Given the description of an element on the screen output the (x, y) to click on. 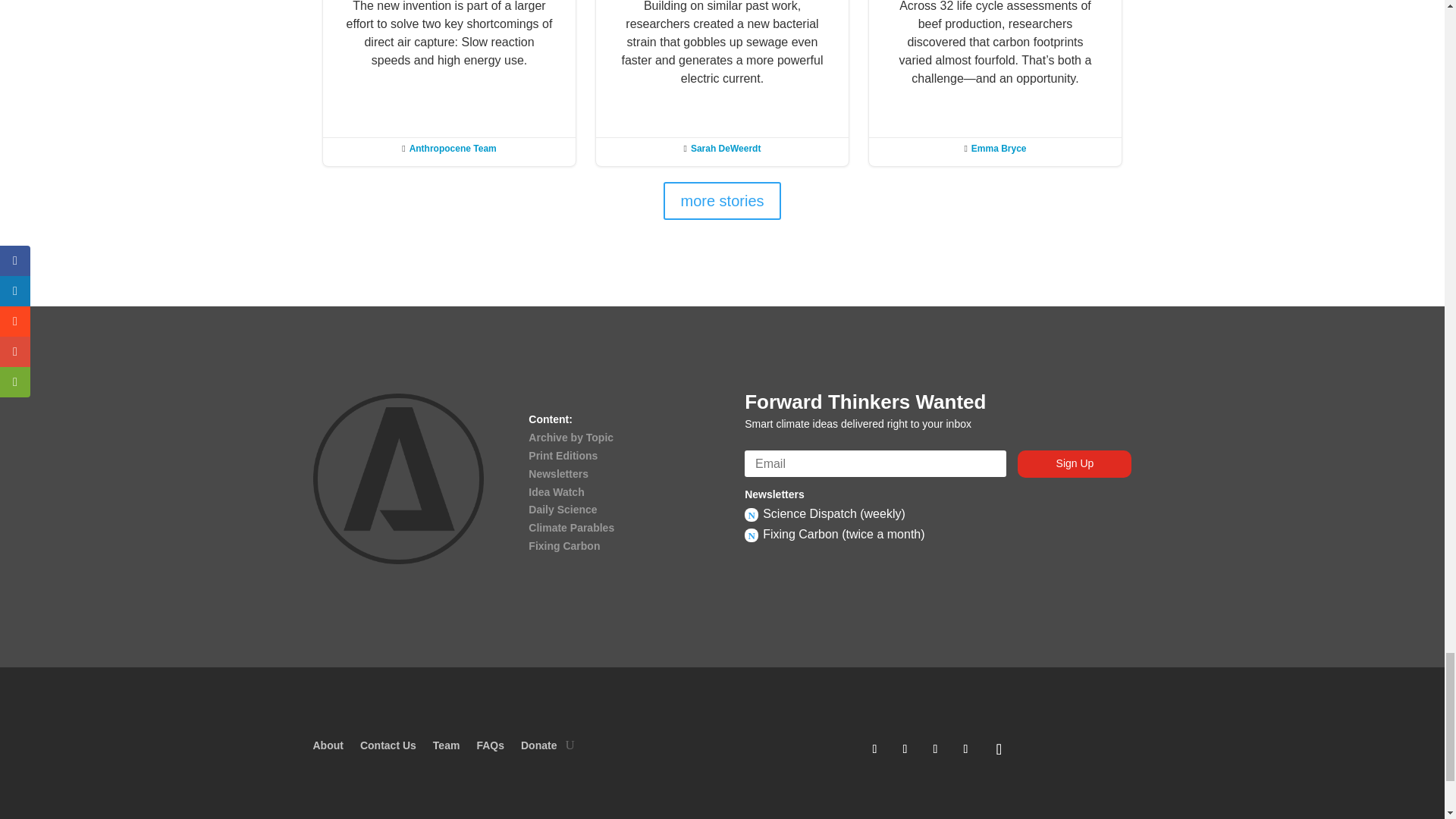
Posts by Sarah DeWeerdt (725, 148)
Posts by Anthropocene Team (452, 148)
Posts by Emma Bryce (998, 148)
